Given the description of an element on the screen output the (x, y) to click on. 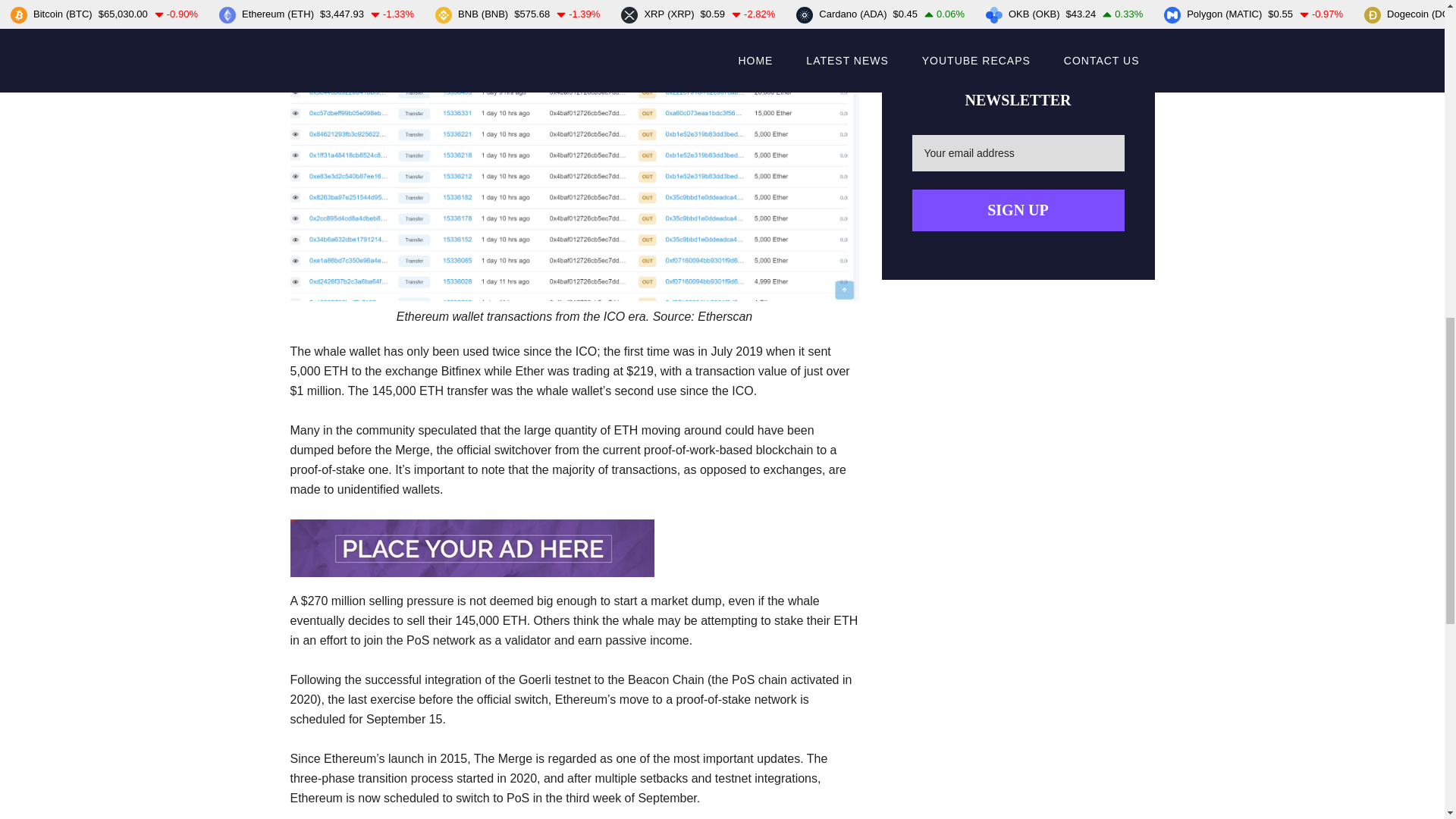
Sign up (1017, 209)
Sign up (1017, 209)
